Given the description of an element on the screen output the (x, y) to click on. 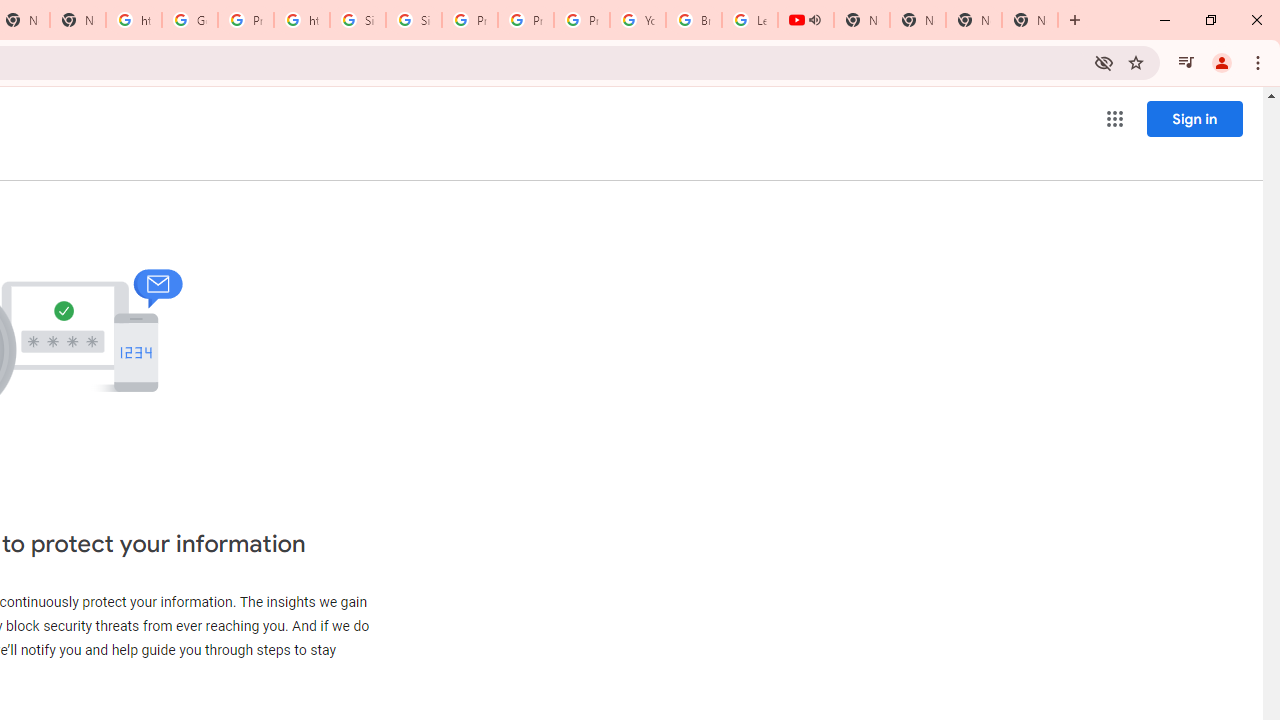
Privacy Help Center - Policies Help (525, 20)
Sign in - Google Accounts (413, 20)
YouTube (637, 20)
New Tab (973, 20)
https://scholar.google.com/ (134, 20)
Sign in (1194, 118)
Google apps (1114, 118)
